Given the description of an element on the screen output the (x, y) to click on. 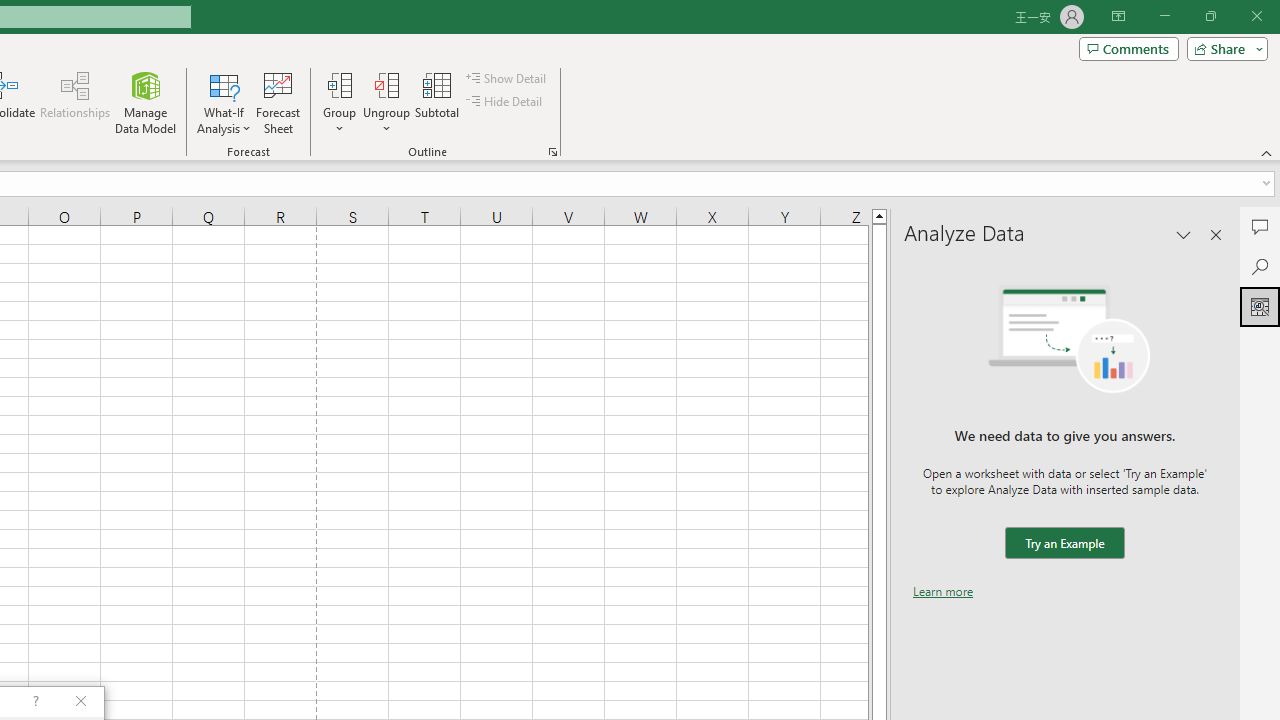
Subtotal (437, 102)
Show Detail (507, 78)
Group and Outline Settings (552, 151)
Hide Detail (505, 101)
Relationships (75, 102)
Search (1260, 266)
